Given the description of an element on the screen output the (x, y) to click on. 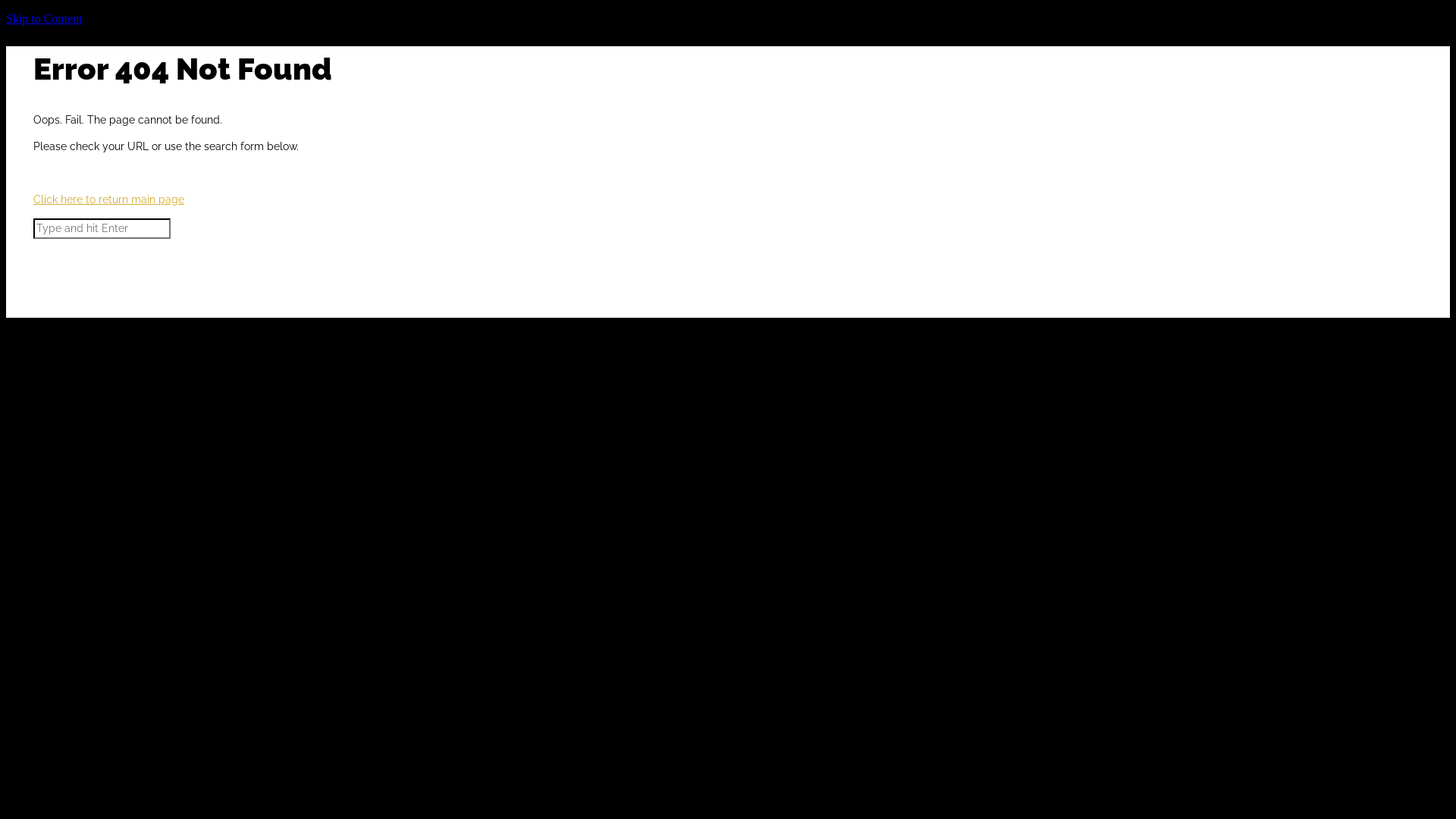
Skip to Content Element type: text (43, 18)
Click here to return main page Element type: text (108, 199)
